Given the description of an element on the screen output the (x, y) to click on. 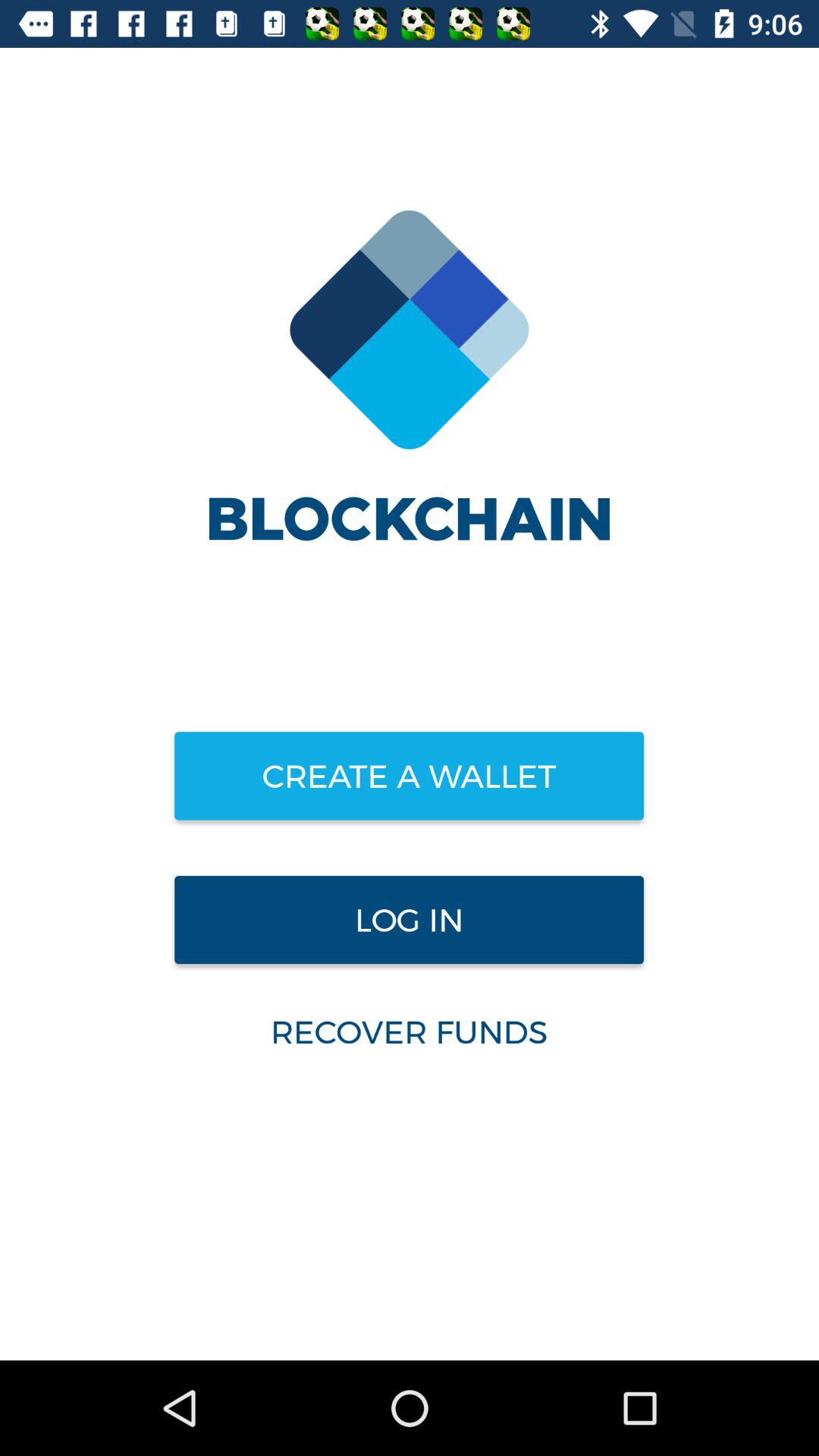
tap log in (408, 919)
